Given the description of an element on the screen output the (x, y) to click on. 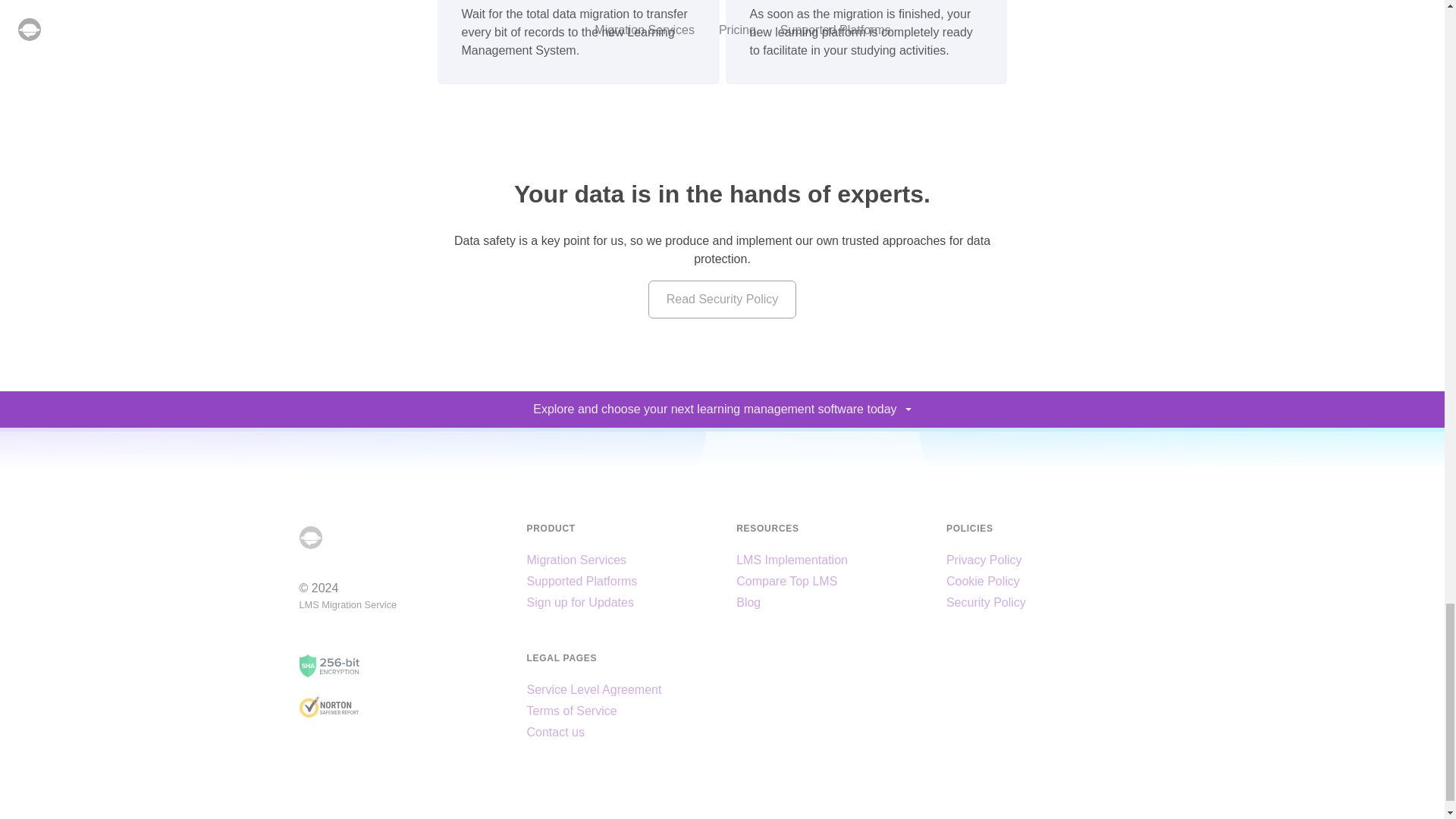
Read Security Policy (721, 299)
